Given the description of an element on the screen output the (x, y) to click on. 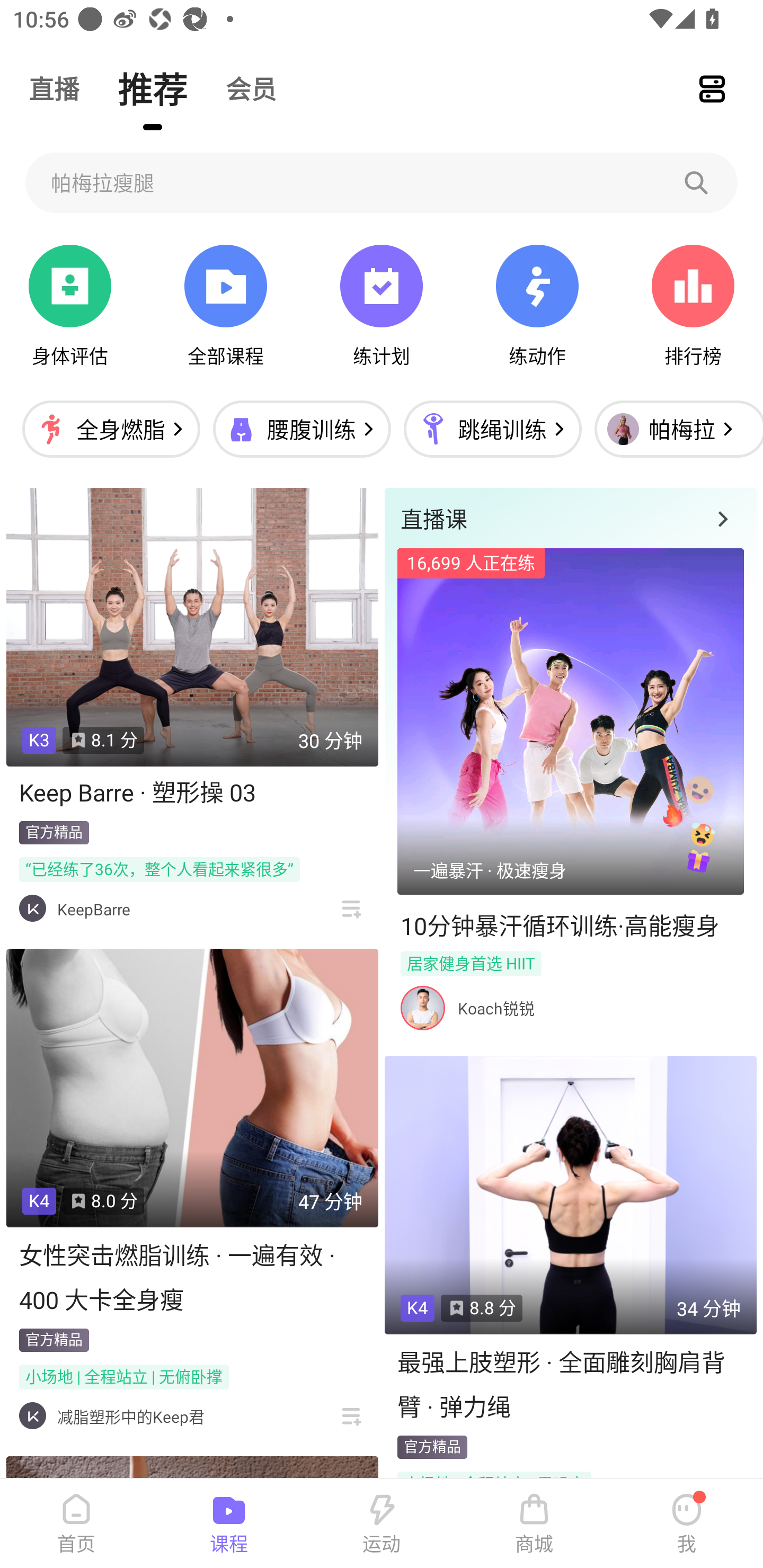
直播 (53, 88)
推荐 (152, 88)
会员 (251, 88)
帕梅拉瘦腿 (381, 182)
身体评估 (69, 306)
全部课程 (225, 306)
练计划 (381, 306)
练动作 (537, 306)
排行榜 (692, 306)
全身燃脂 更多 (110, 428)
腰腹训练 更多 (301, 428)
跳绳训练 更多 (492, 428)
帕梅拉 更多 (673, 428)
直播课 (570, 517)
KeepBarre (94, 909)
Koach锐锐 (495, 1008)
减脂塑形中的Keep君 (130, 1416)
首页 (76, 1523)
课程 (228, 1523)
运动 (381, 1523)
商城 (533, 1523)
我 (686, 1523)
